Given the description of an element on the screen output the (x, y) to click on. 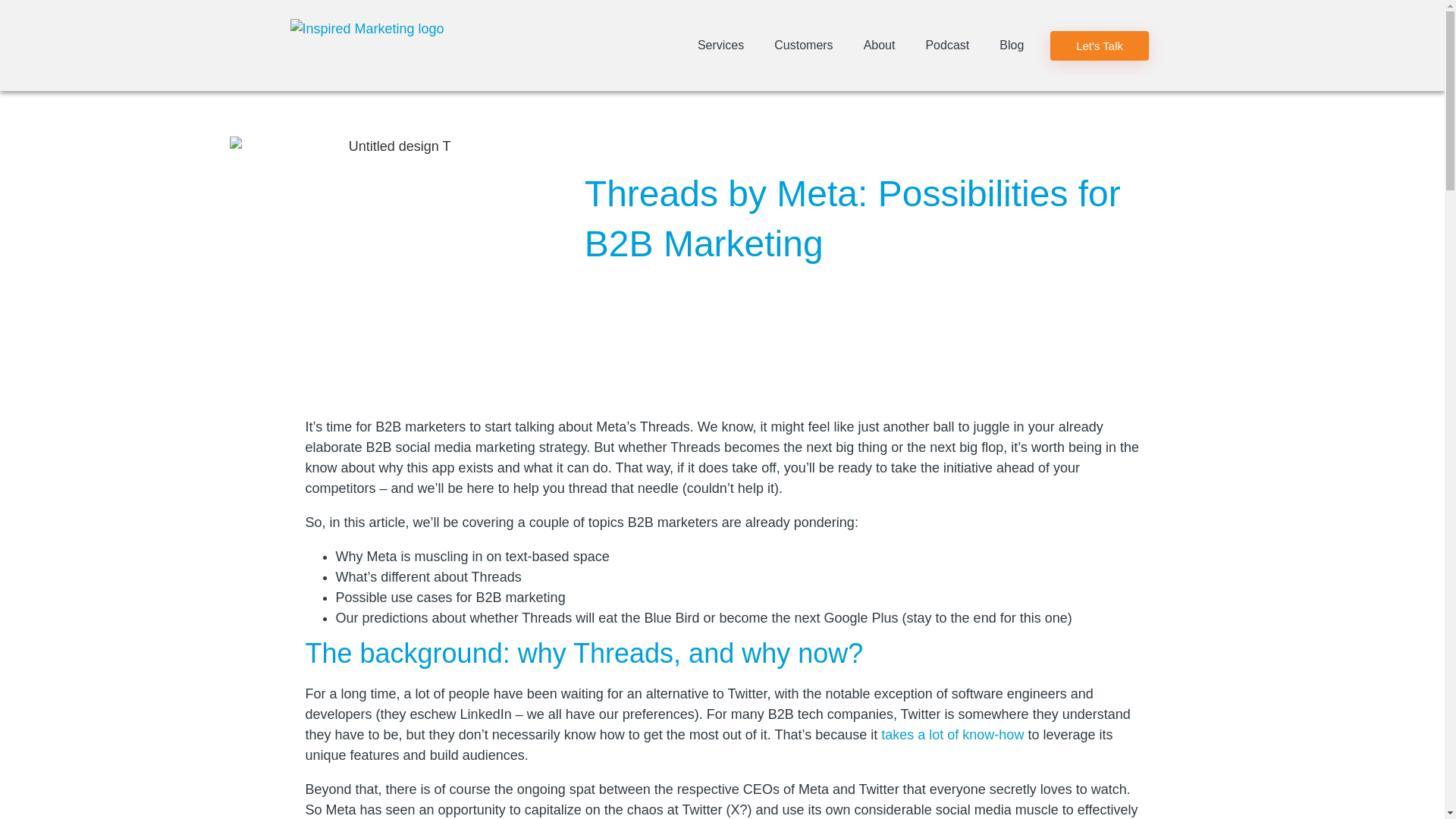
Let's Talk (1098, 44)
Podcast (946, 44)
Blog (1011, 44)
Services (721, 44)
Customers (802, 44)
takes a lot of know-how (951, 734)
About (879, 44)
